Given the description of an element on the screen output the (x, y) to click on. 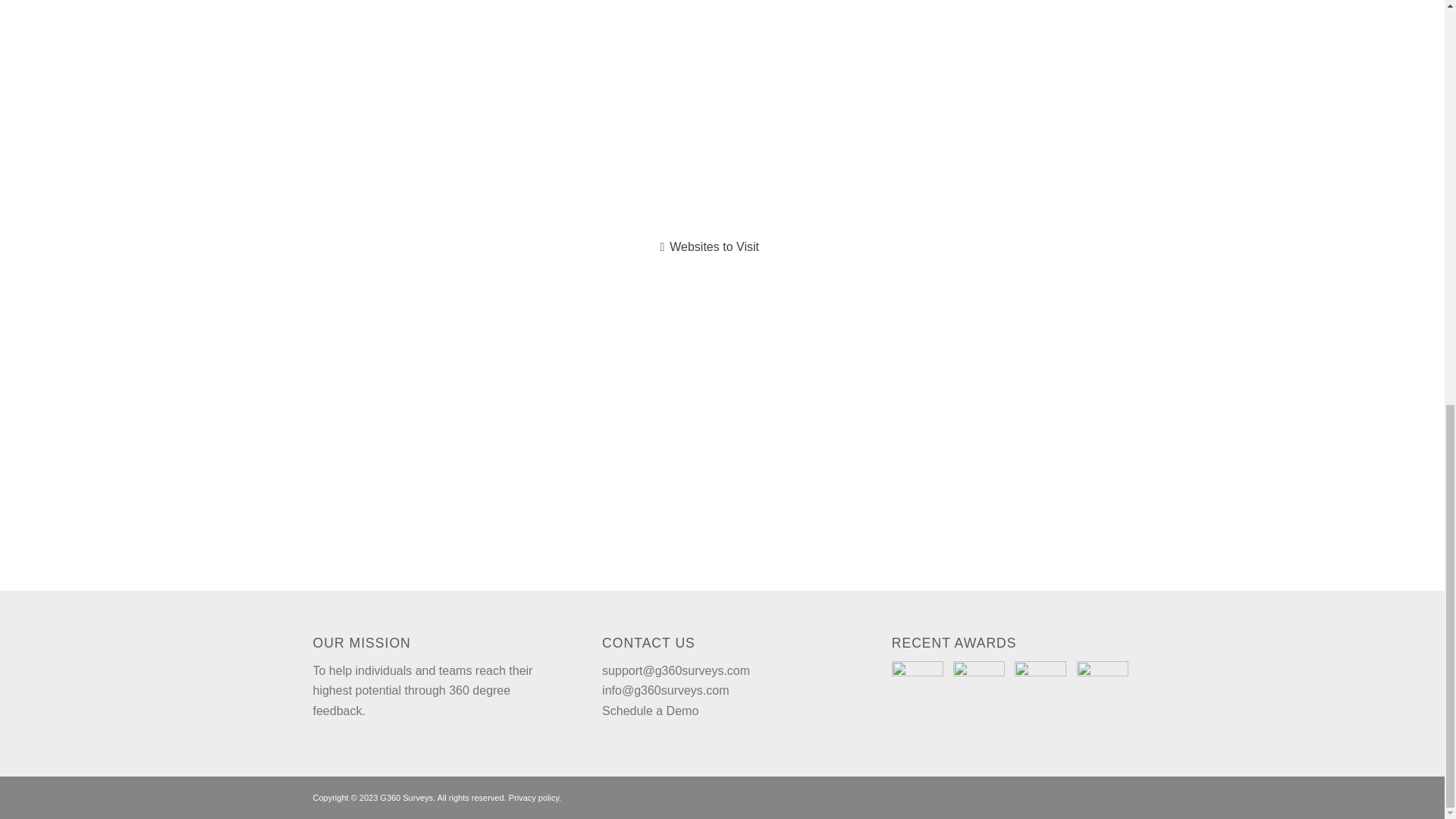
Schedule a Demo (650, 710)
Privacy policy. (534, 797)
